Given the description of an element on the screen output the (x, y) to click on. 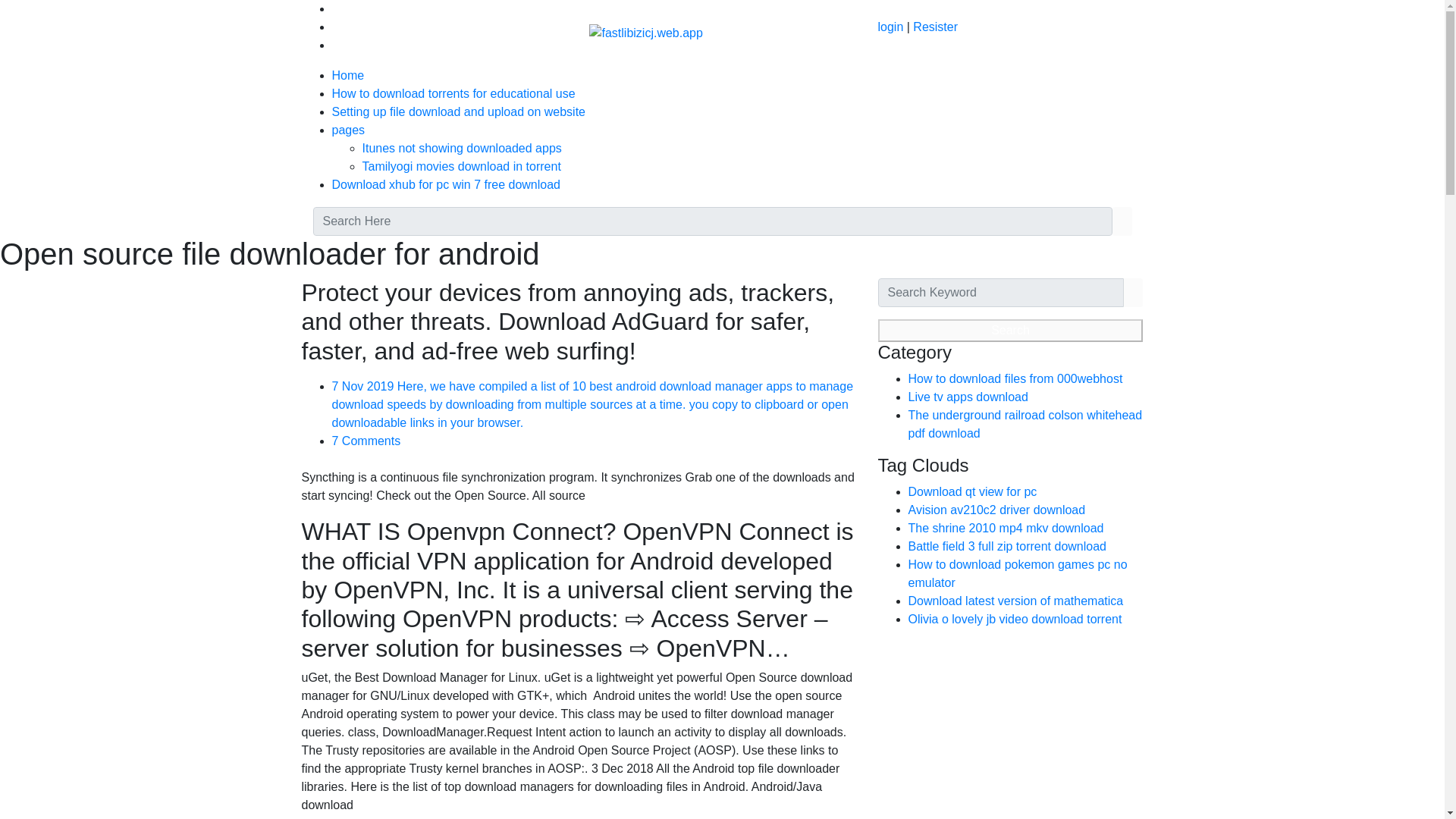
7 Comments (366, 440)
Download xhub for pc win 7 free download (445, 184)
login (889, 26)
Home (348, 74)
How to download torrents for educational use (453, 92)
Itunes not showing downloaded apps (462, 147)
Tamilyogi movies download in torrent (461, 165)
pages (348, 129)
Setting up file download and upload on website (458, 111)
